Given the description of an element on the screen output the (x, y) to click on. 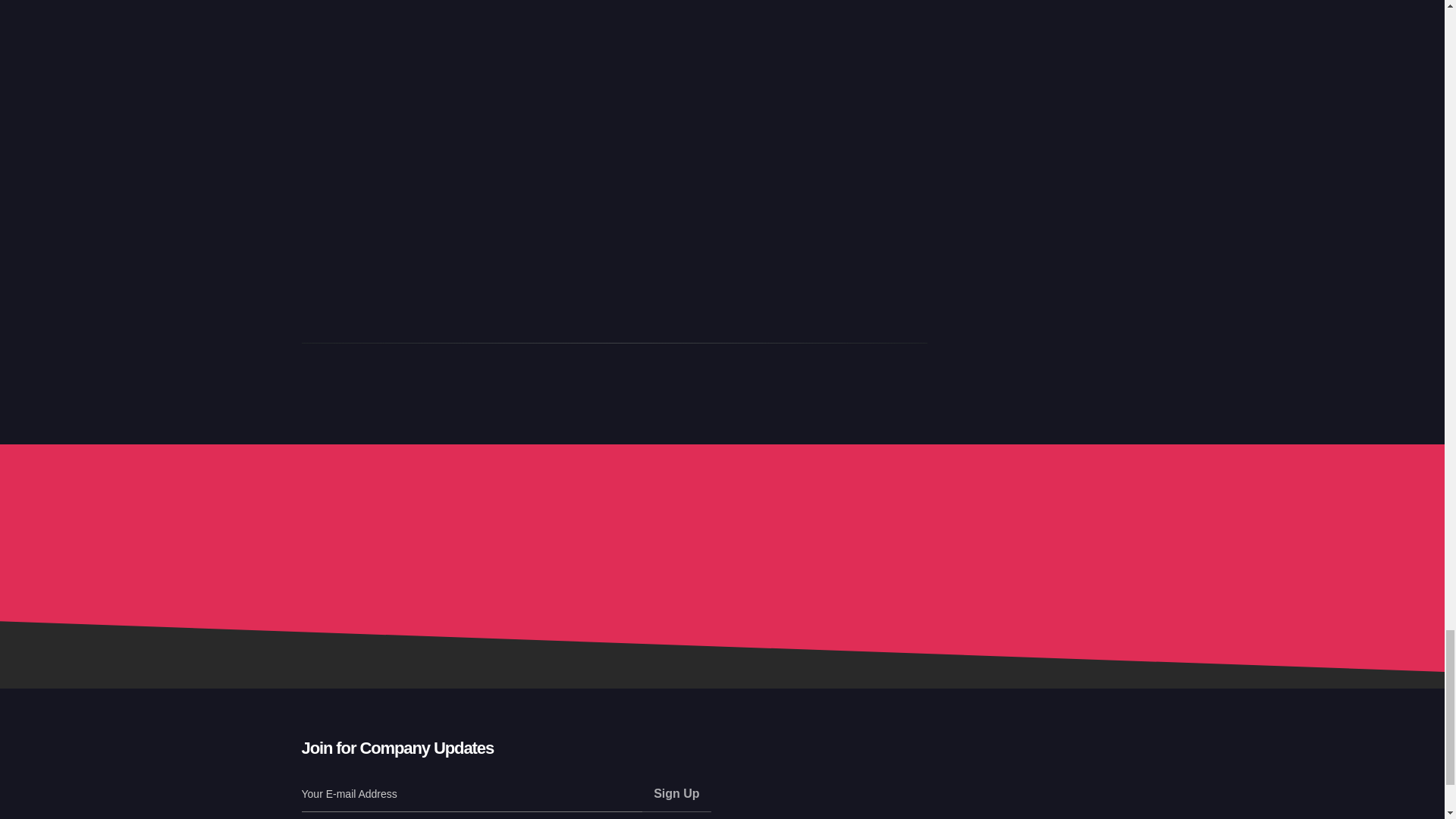
Sign Up (676, 794)
